Given the description of an element on the screen output the (x, y) to click on. 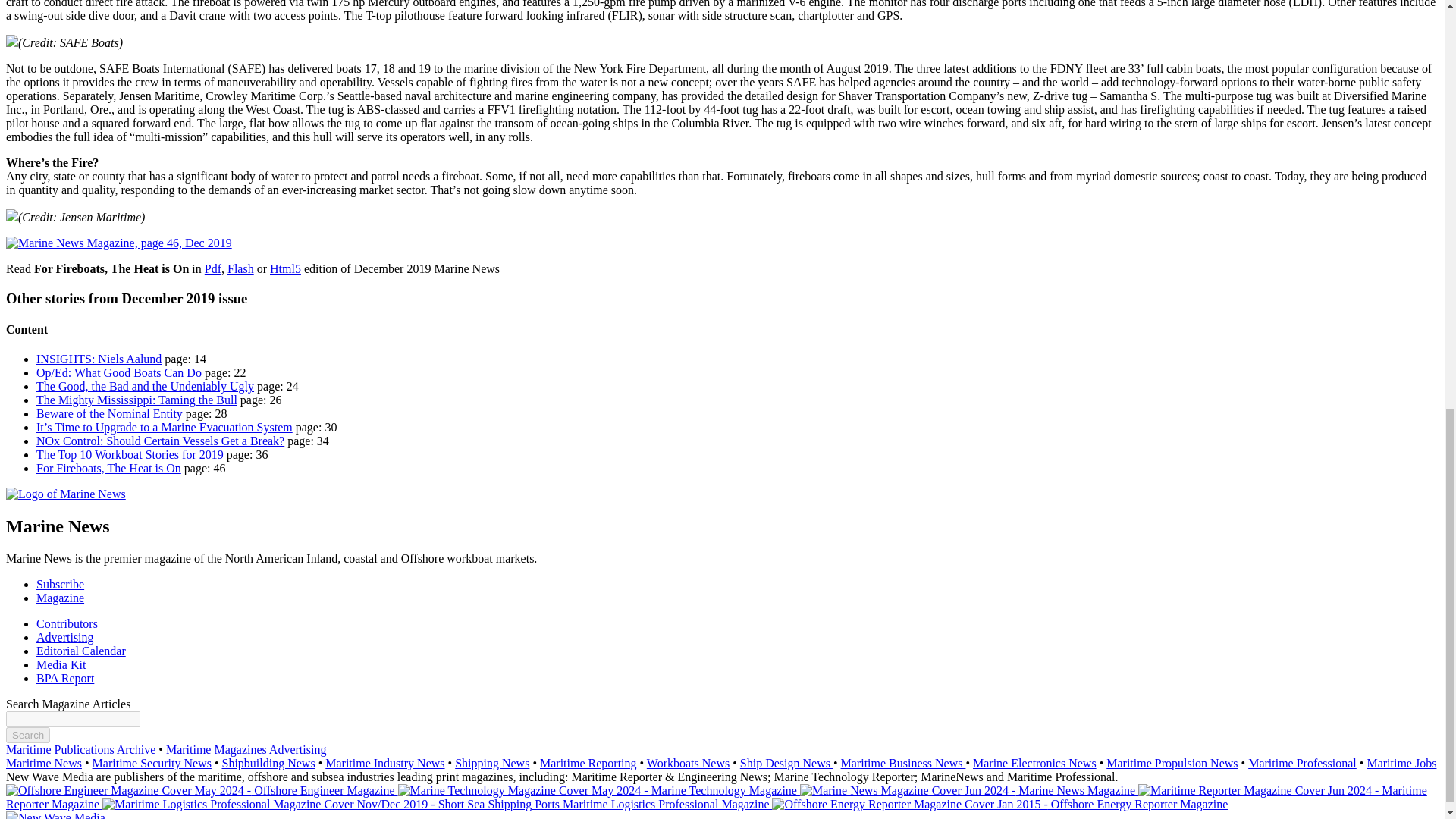
Contributors (66, 623)
Naval Architecture, Marine Engineering (785, 762)
Maritime Industry News (384, 762)
Subscribe for Marine News Magazine (60, 584)
Maritime Business News  (903, 762)
Flash (240, 268)
Media Kit (60, 664)
Marine News Magazine Info (60, 597)
Maritime Magazines Advertising (245, 748)
BPA Report (65, 677)
Editorial Calendar (80, 650)
Shipbuilding, Ship repair news (267, 762)
The Mighty Mississippi: Taming the Bull (136, 399)
Workboat, Pushboat, Tugboat (687, 762)
Maritime Professional (1301, 762)
